Given the description of an element on the screen output the (x, y) to click on. 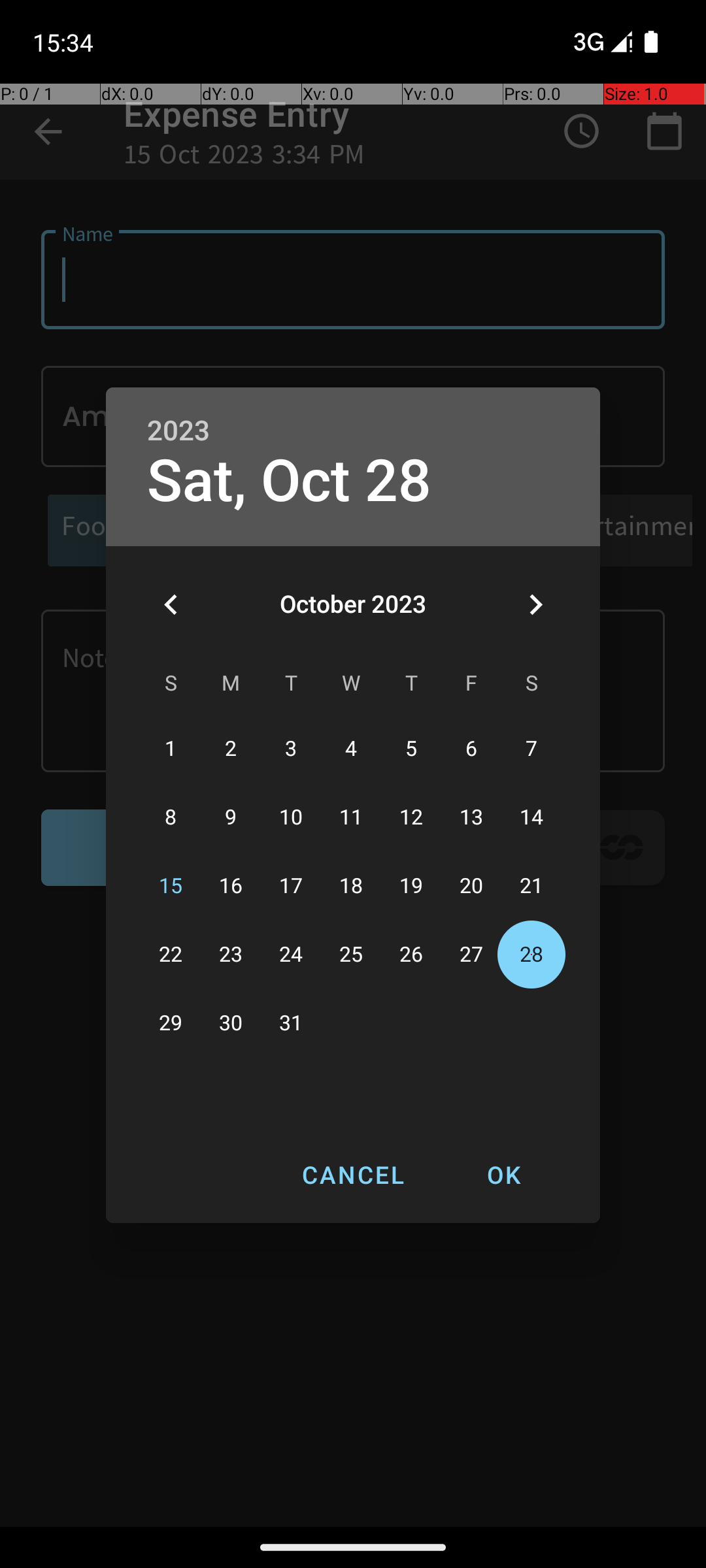
Sat, Oct 28 Element type: android.widget.TextView (289, 480)
